Given the description of an element on the screen output the (x, y) to click on. 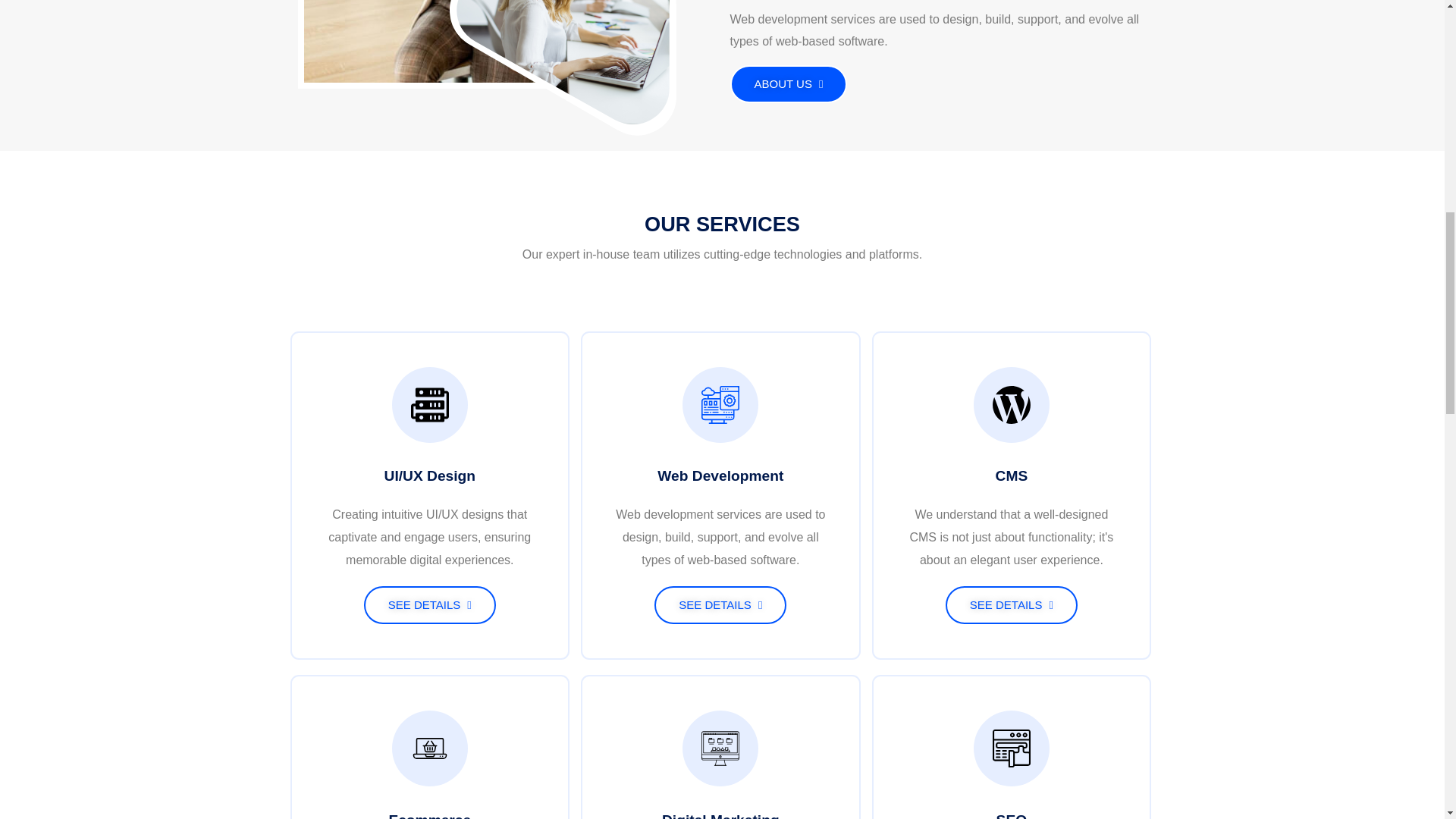
Web Development (720, 475)
Ecommerce (429, 815)
SEE DETAILS (1010, 605)
ABOUT US (788, 84)
CMS (1011, 475)
SEE DETAILS (719, 605)
SEE DETAILS (430, 605)
